Given the description of an element on the screen output the (x, y) to click on. 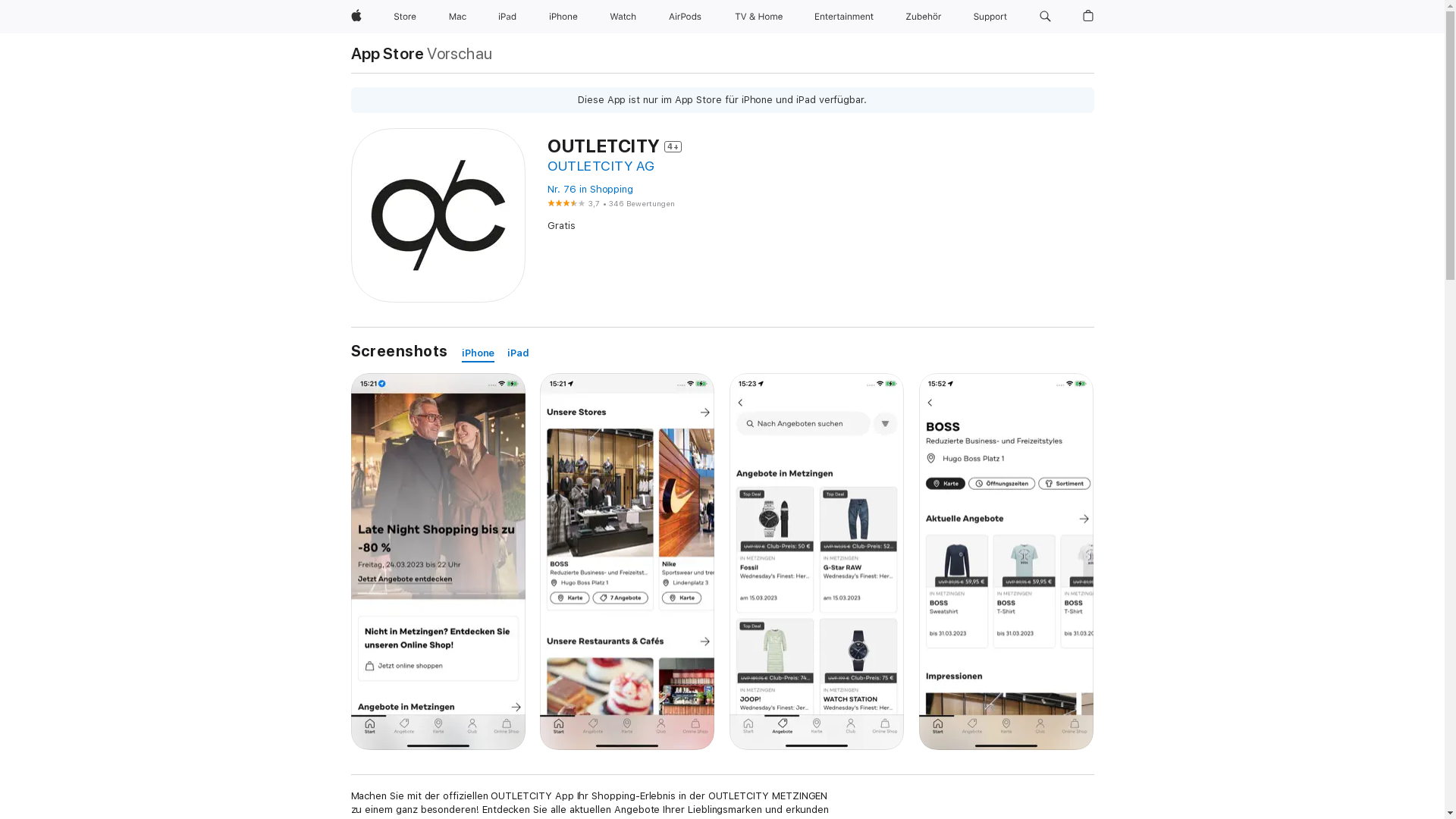
Store Element type: text (404, 16)
TV & Home Element type: text (758, 16)
Unterhaltung Element type: text (844, 16)
Nr. 76 in Shopping Element type: text (590, 189)
iPhone Element type: text (562, 16)
Watch Element type: text (622, 16)
iPad Element type: text (518, 353)
iPhone Element type: text (478, 353)
App Store Element type: text (386, 53)
iPad Element type: text (507, 16)
OUTLETCITY AG Element type: text (600, 165)
Mac Element type: text (457, 16)
AirPods Element type: text (684, 16)
Apple Element type: text (355, 16)
Support Element type: text (990, 16)
